Given the description of an element on the screen output the (x, y) to click on. 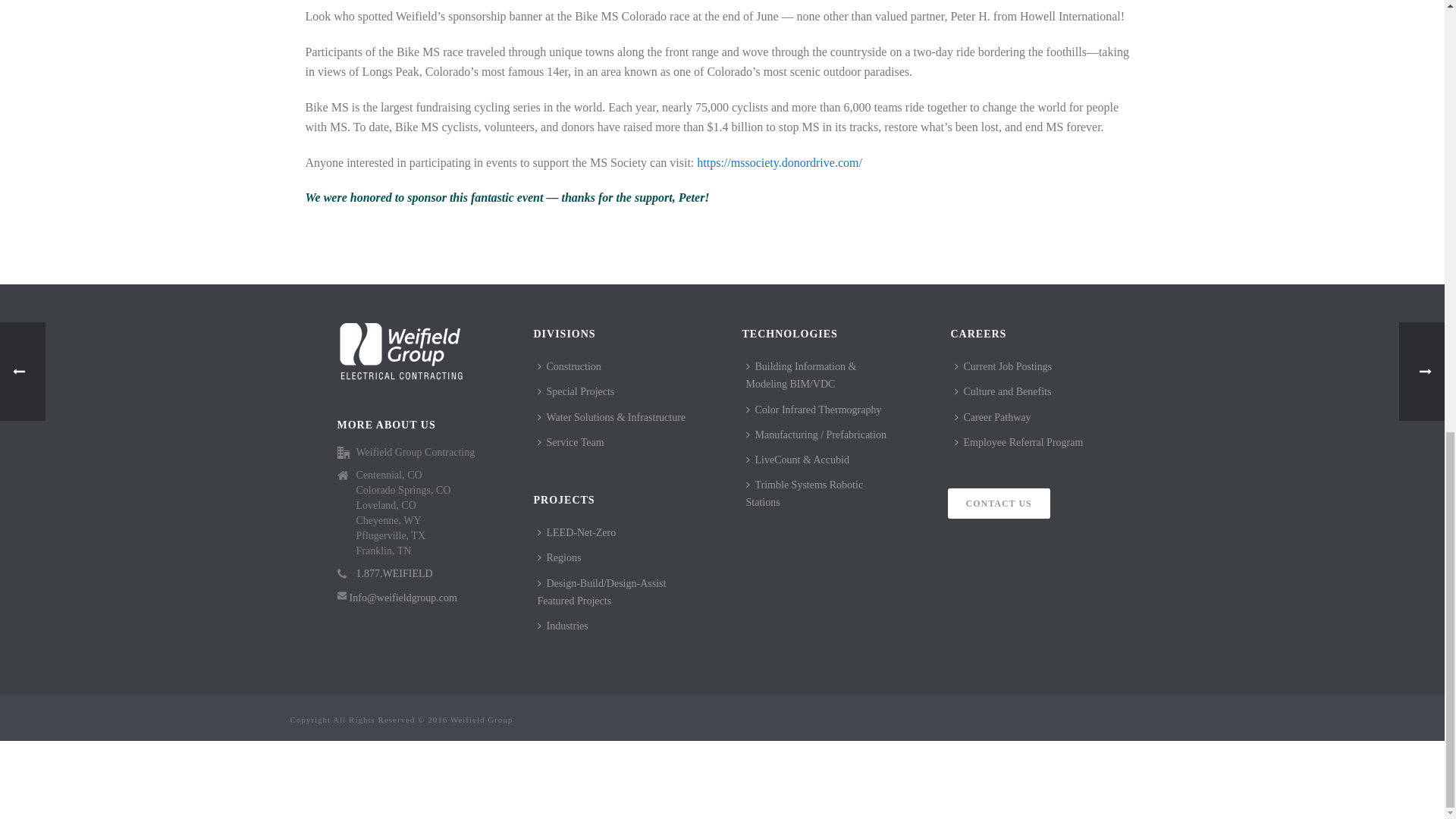
CONTACT US (998, 503)
